Given the description of an element on the screen output the (x, y) to click on. 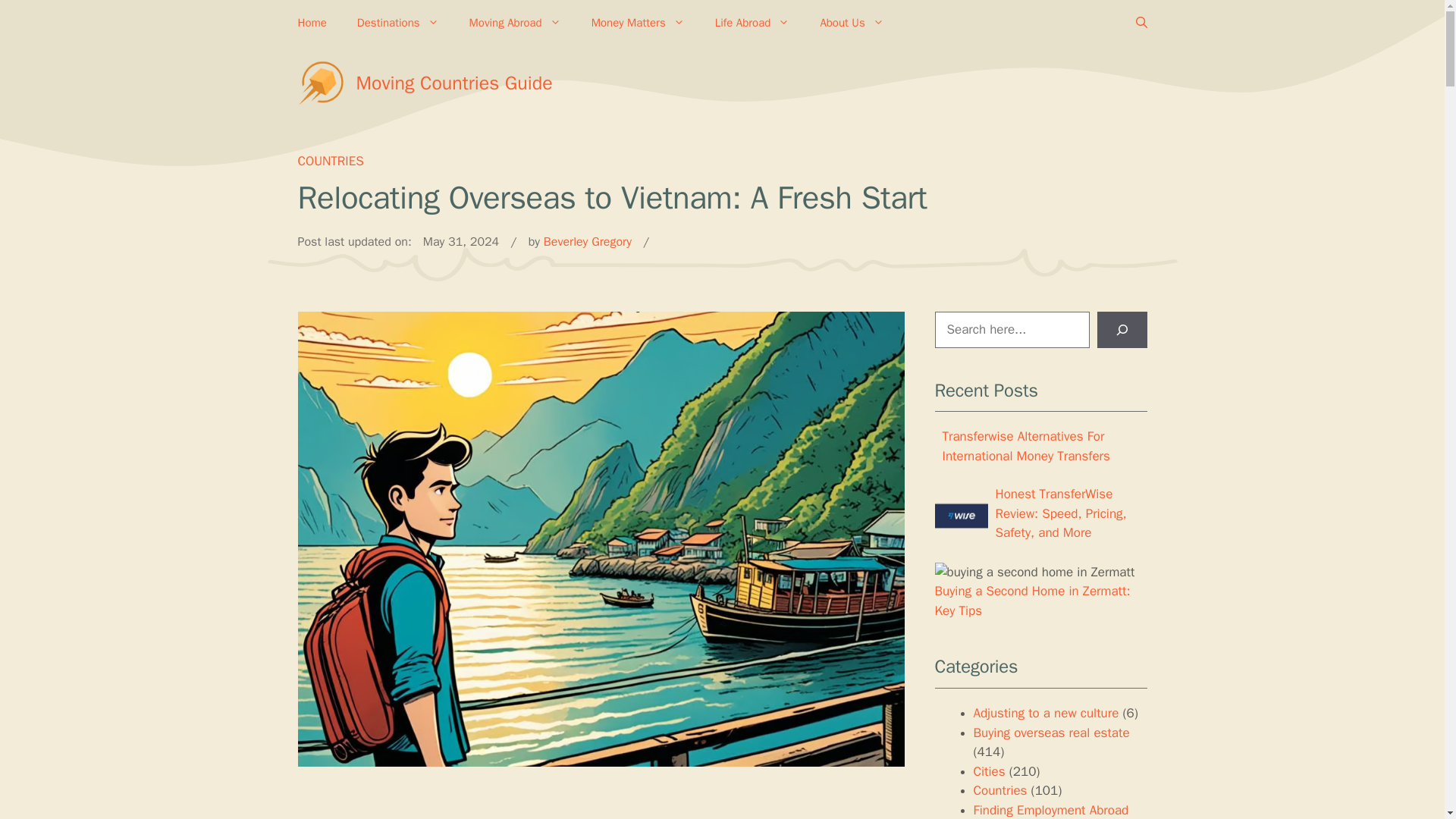
About Us (851, 22)
Destinations (398, 22)
Beverley Gregory (587, 241)
COUNTRIES (329, 160)
Moving Abroad (515, 22)
Life Abroad (752, 22)
Moving Countries Guide (454, 83)
Home (311, 22)
Money Matters (638, 22)
